Given the description of an element on the screen output the (x, y) to click on. 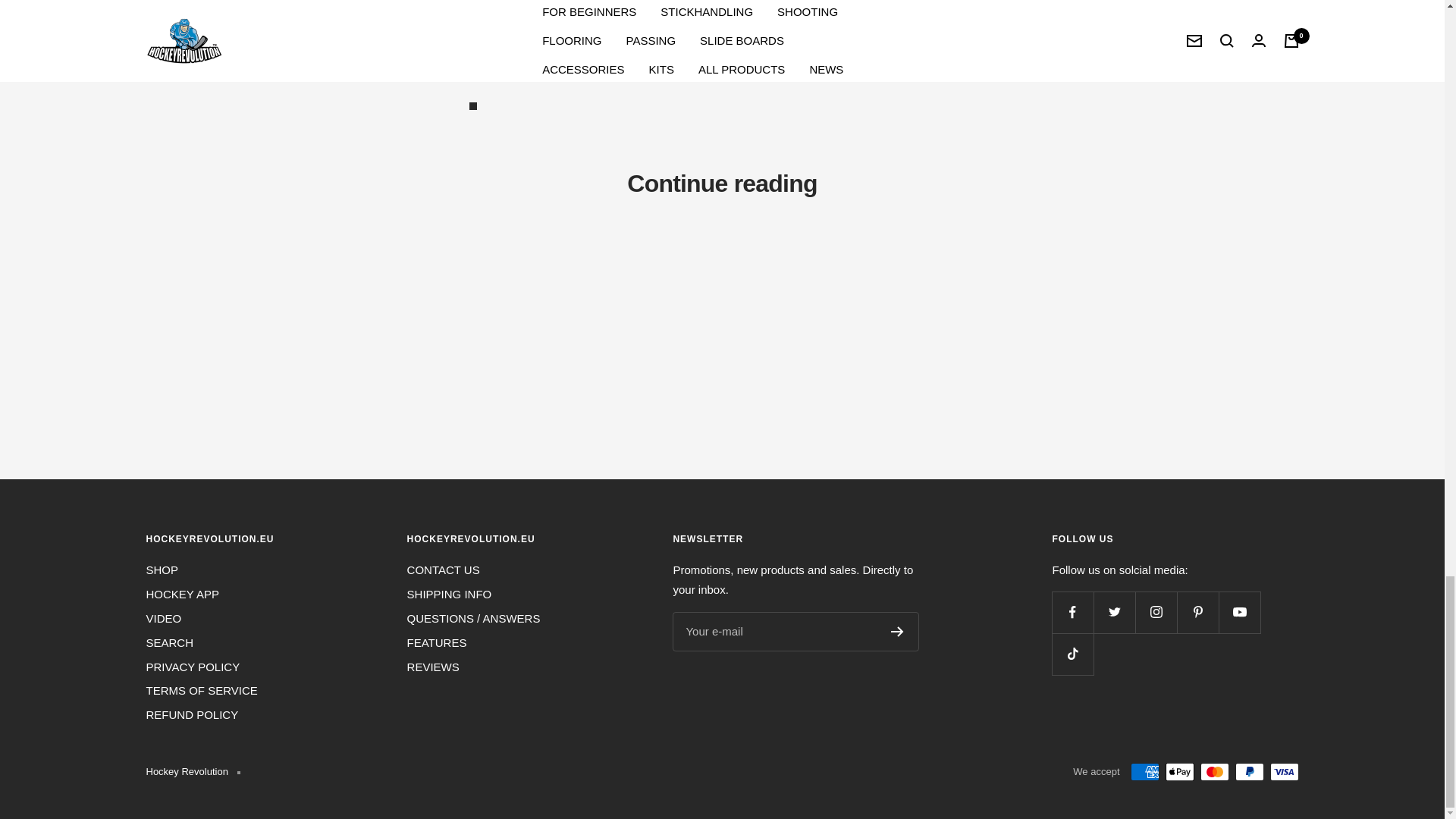
YouTube video player (680, 11)
Register (897, 631)
SLIDE BOARDS (770, 55)
